Given the description of an element on the screen output the (x, y) to click on. 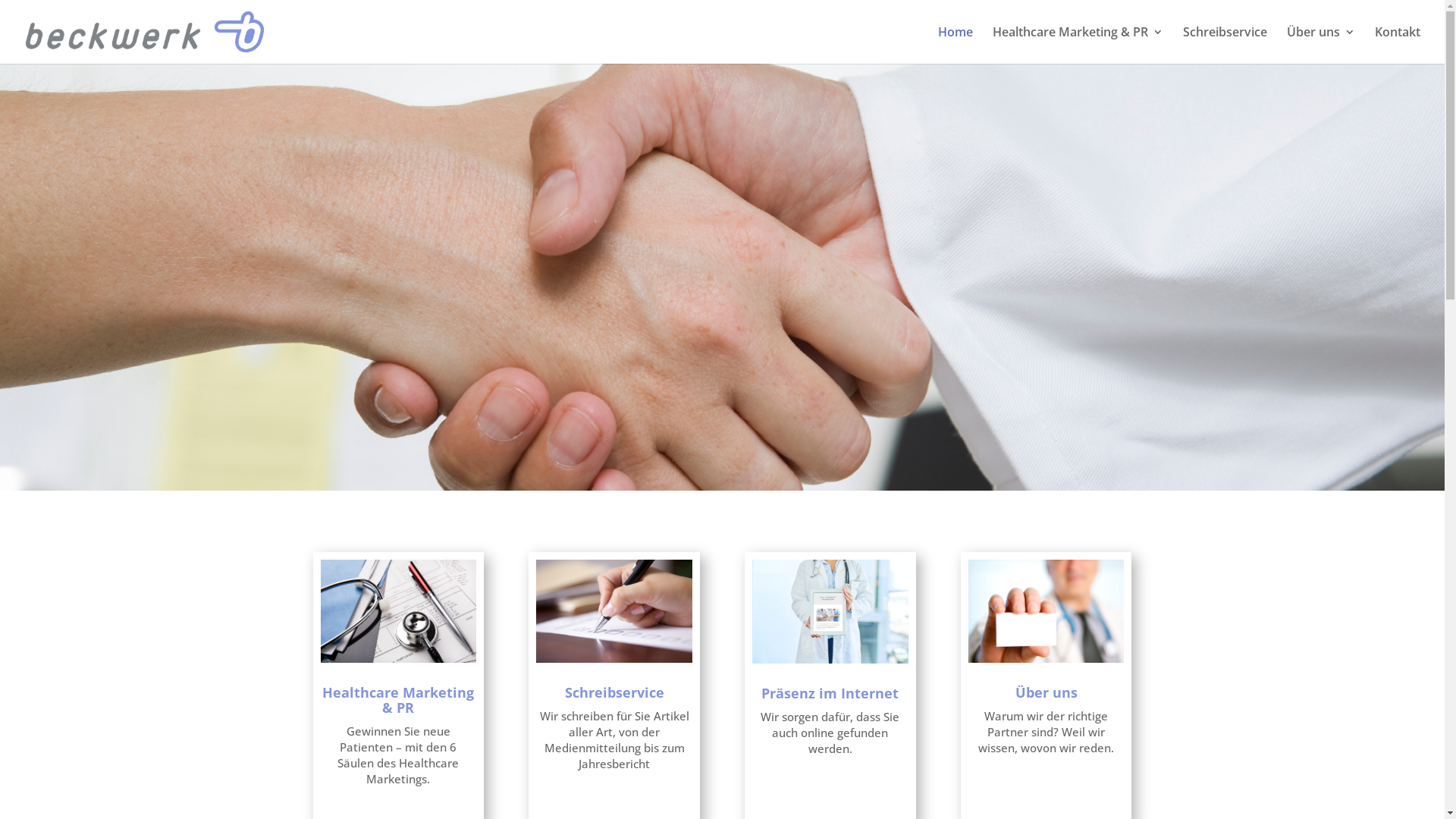
Healthcare Marketing & PR Element type: text (1077, 44)
Kontakt Element type: text (1397, 44)
Schreibservice Element type: text (614, 692)
Home Element type: text (955, 44)
Schreibservice Element type: text (1225, 44)
Healthcare Marketing & PR Element type: text (397, 699)
